Given the description of an element on the screen output the (x, y) to click on. 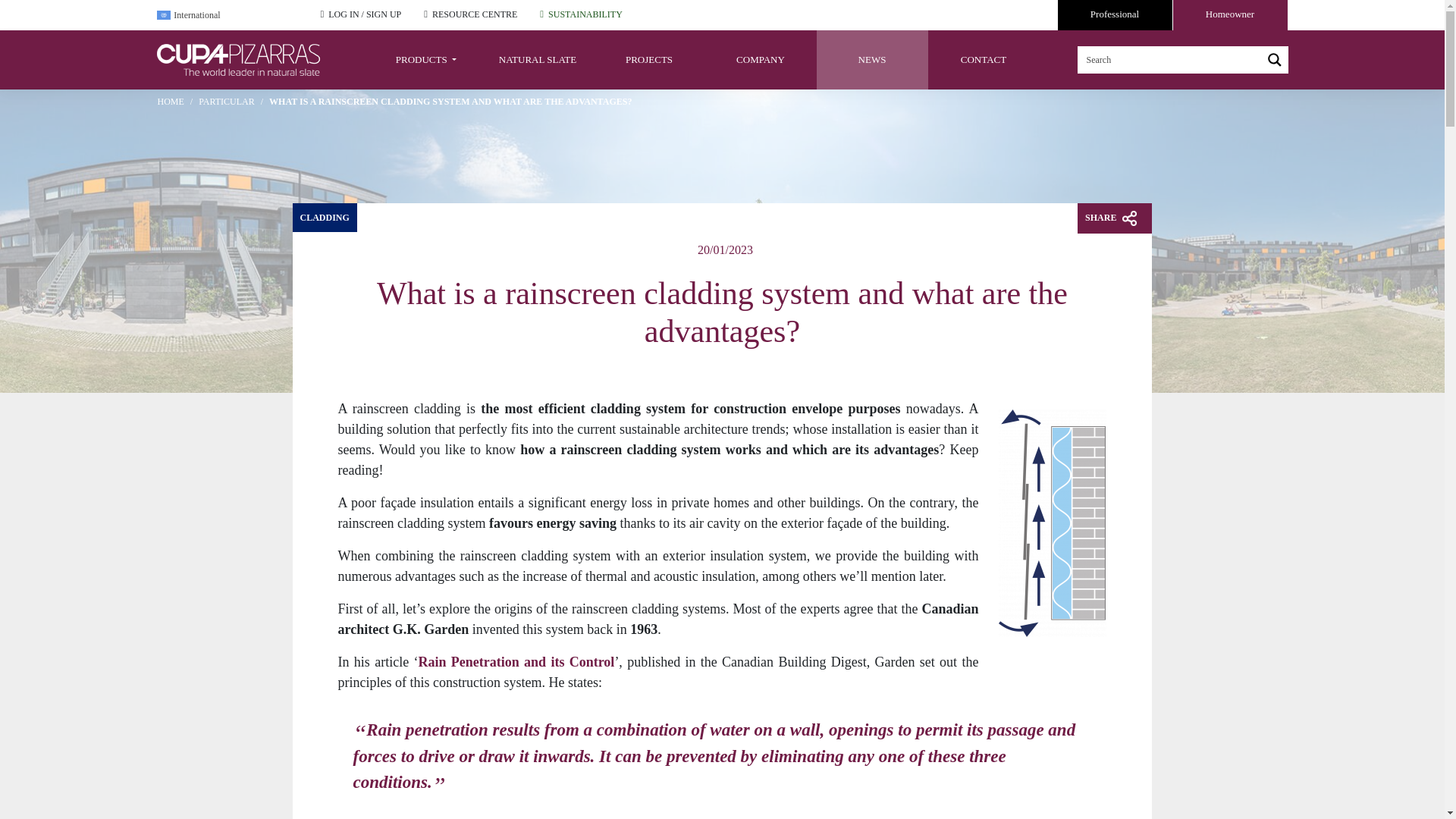
NATURAL SLATE (537, 59)
PROJECTS (648, 59)
PROJECTS (648, 59)
COMPANY (760, 59)
NATURAL SLATE (537, 59)
SUSTAINABILITY (585, 14)
Professional (1114, 15)
PRODUCTS (425, 59)
COMPANY (760, 59)
Homeowner (1229, 15)
